Given the description of an element on the screen output the (x, y) to click on. 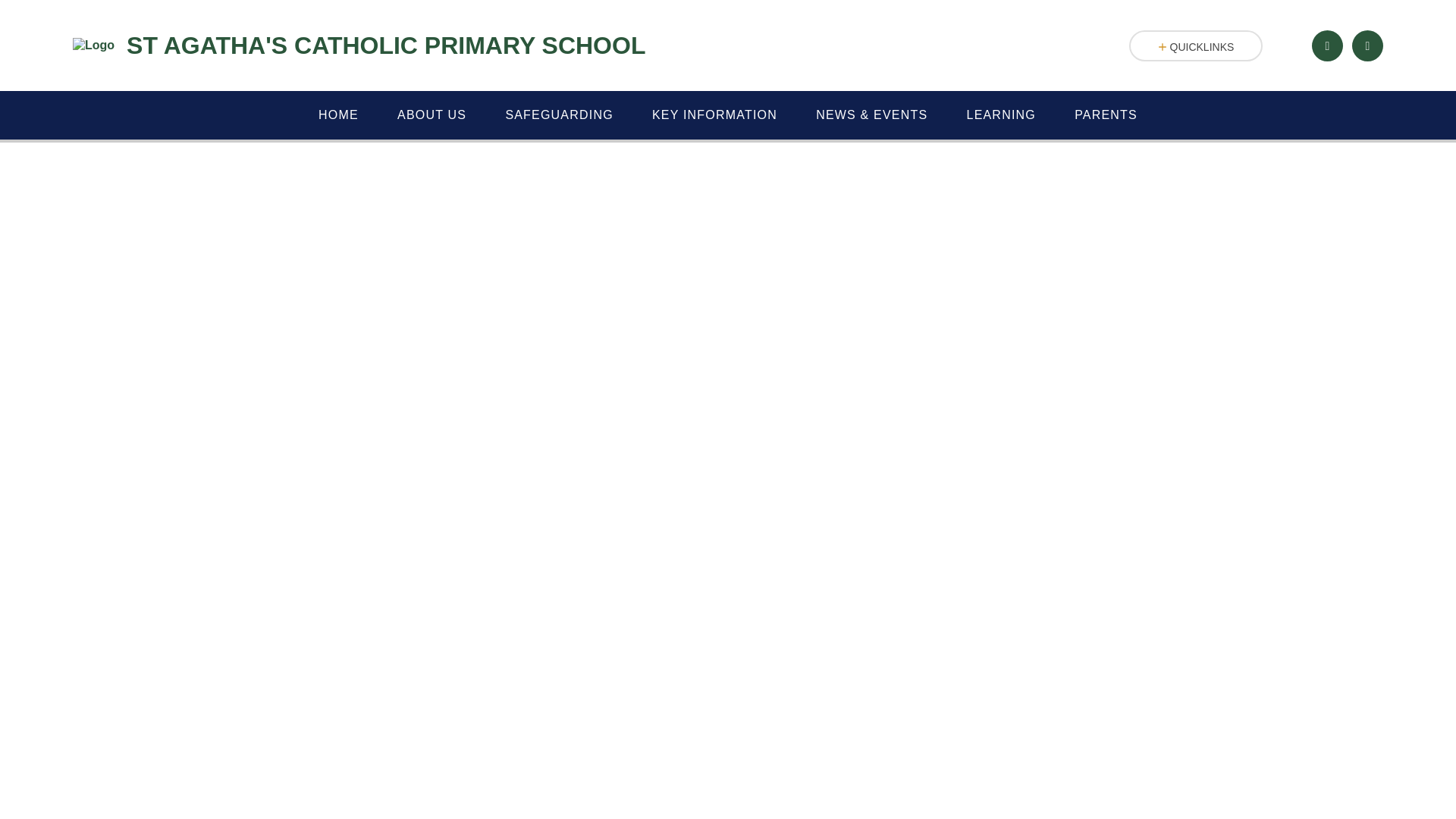
SAFEGUARDING (559, 114)
KEY INFORMATION (713, 114)
ST AGATHA'S CATHOLIC PRIMARY SCHOOL (358, 45)
HOME (337, 114)
ABOUT US (430, 114)
